Given the description of an element on the screen output the (x, y) to click on. 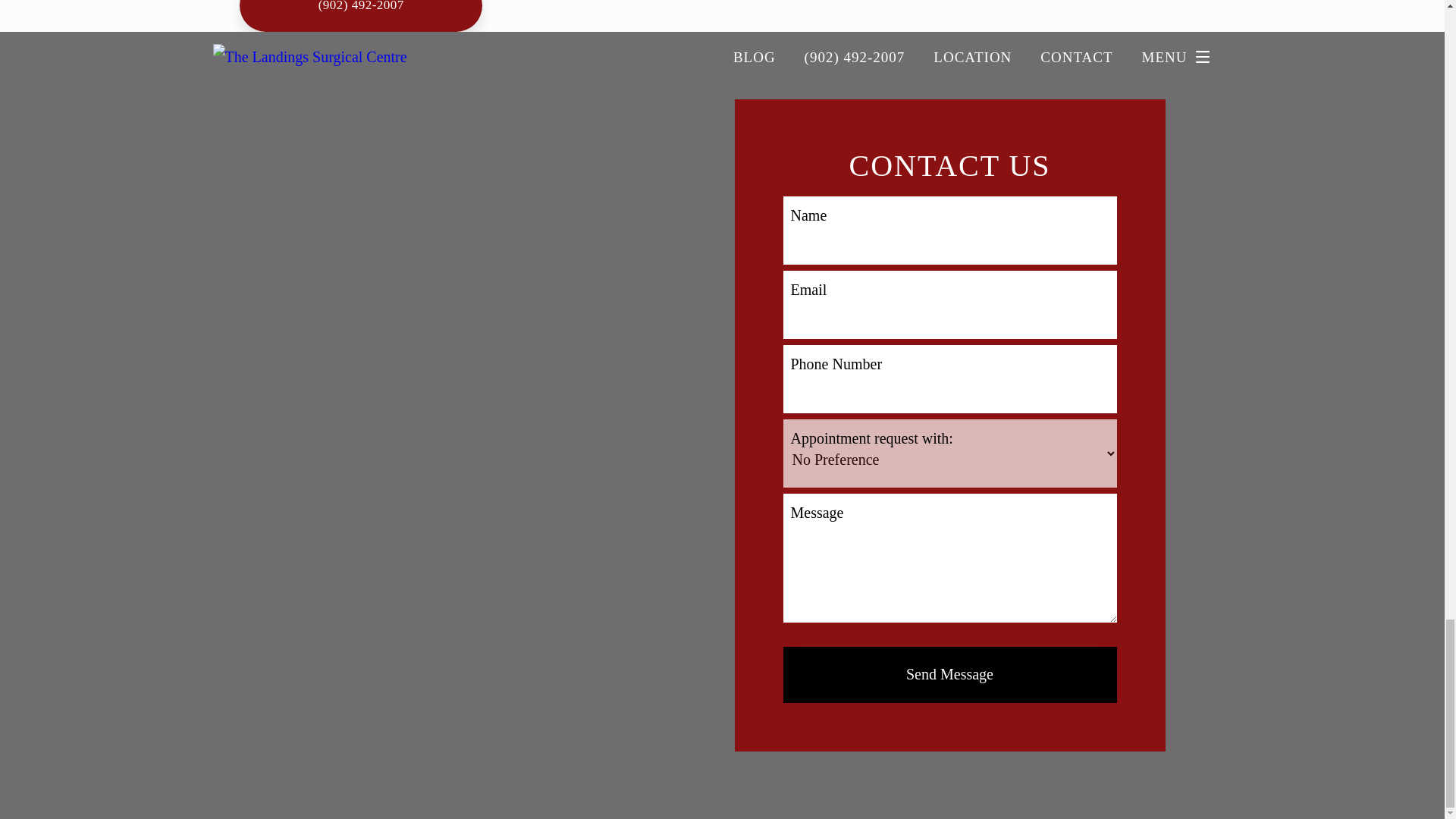
Send Message (949, 674)
